Given the description of an element on the screen output the (x, y) to click on. 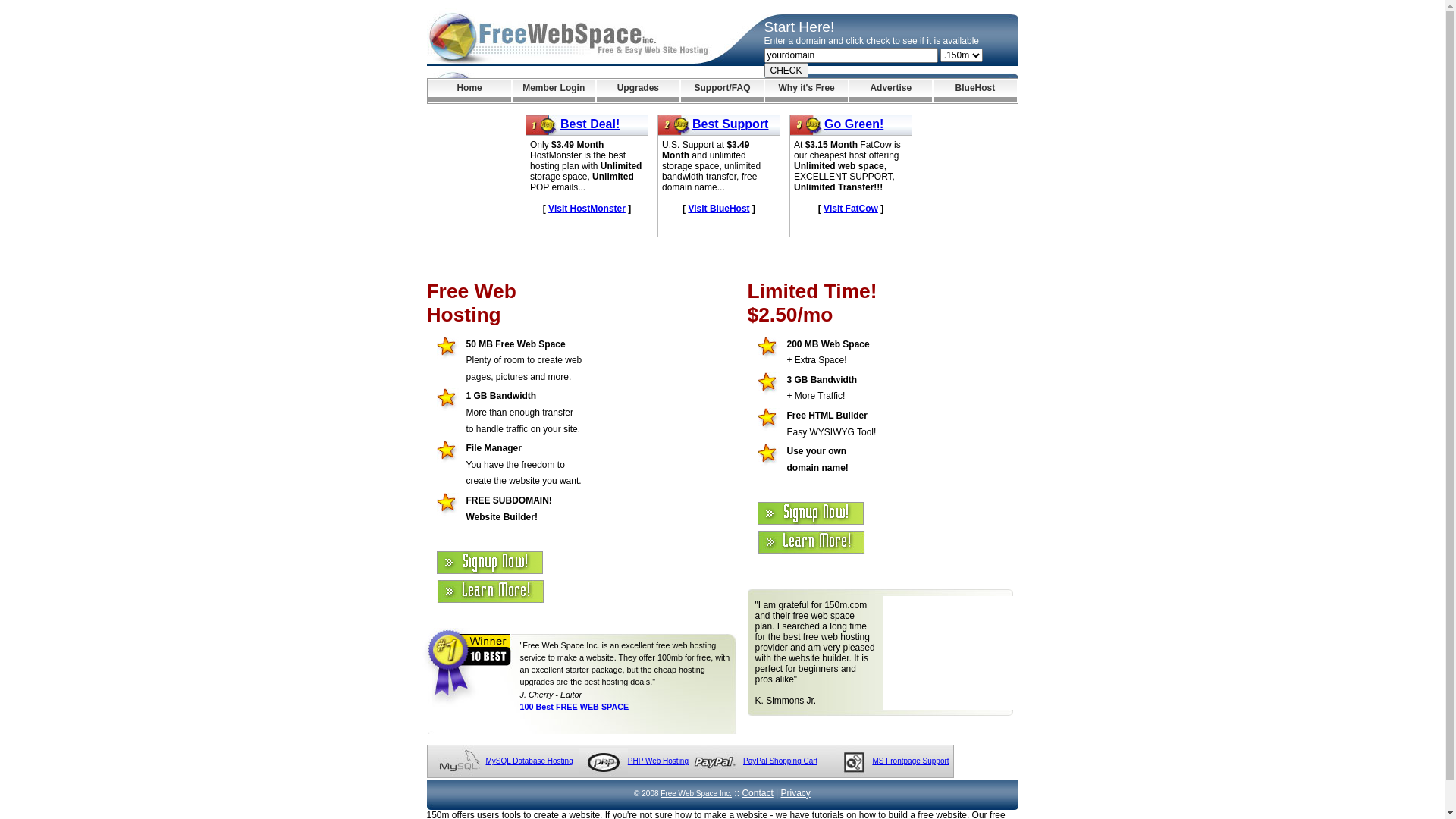
BlueHost Element type: text (974, 90)
PHP Web Hosting Element type: text (657, 760)
CHECK Element type: text (786, 70)
Contact Element type: text (756, 792)
Support/FAQ Element type: text (721, 90)
Member Login Element type: text (553, 90)
Upgrades Element type: text (637, 90)
100 Best FREE WEB SPACE Element type: text (574, 706)
Privacy Element type: text (795, 792)
Home Element type: text (468, 90)
Free Web Space Inc. Element type: text (695, 793)
PayPal Shopping Cart Element type: text (780, 760)
Why it's Free Element type: text (806, 90)
MS Frontpage Support Element type: text (910, 760)
Advertise Element type: text (890, 90)
MySQL Database Hosting Element type: text (528, 760)
